Given the description of an element on the screen output the (x, y) to click on. 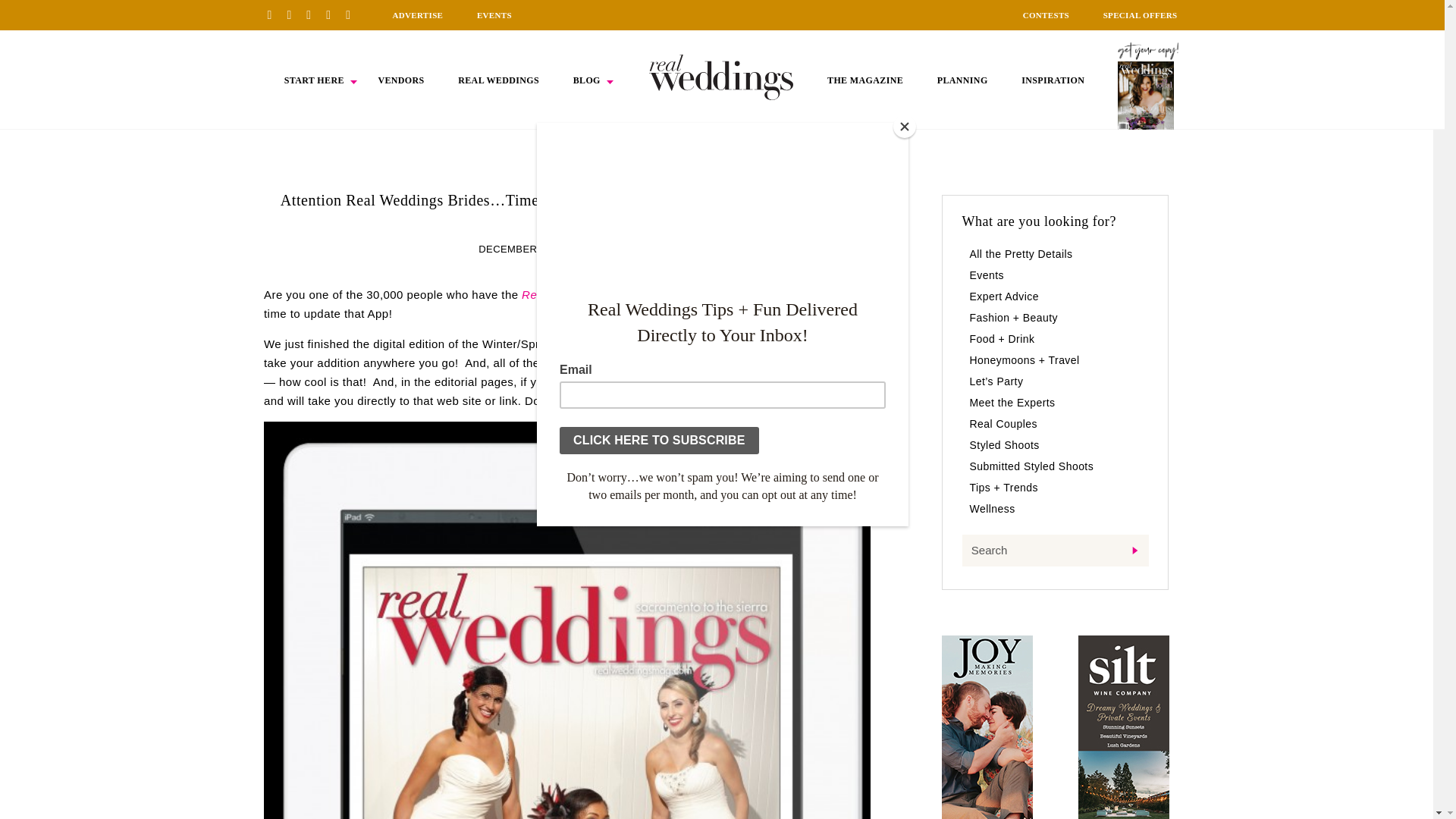
Facebook (294, 14)
HOME (721, 76)
REAL WEDDINGS (498, 80)
THE MAGAZINE (864, 80)
ADVERTISE (416, 14)
BLOG (586, 80)
Twitter (334, 14)
Search (1054, 550)
START HERE (313, 80)
INSPIRATION (1053, 80)
Search (1054, 550)
EVENTS (494, 14)
LET'S PARTY (623, 248)
Instagram (313, 14)
